Given the description of an element on the screen output the (x, y) to click on. 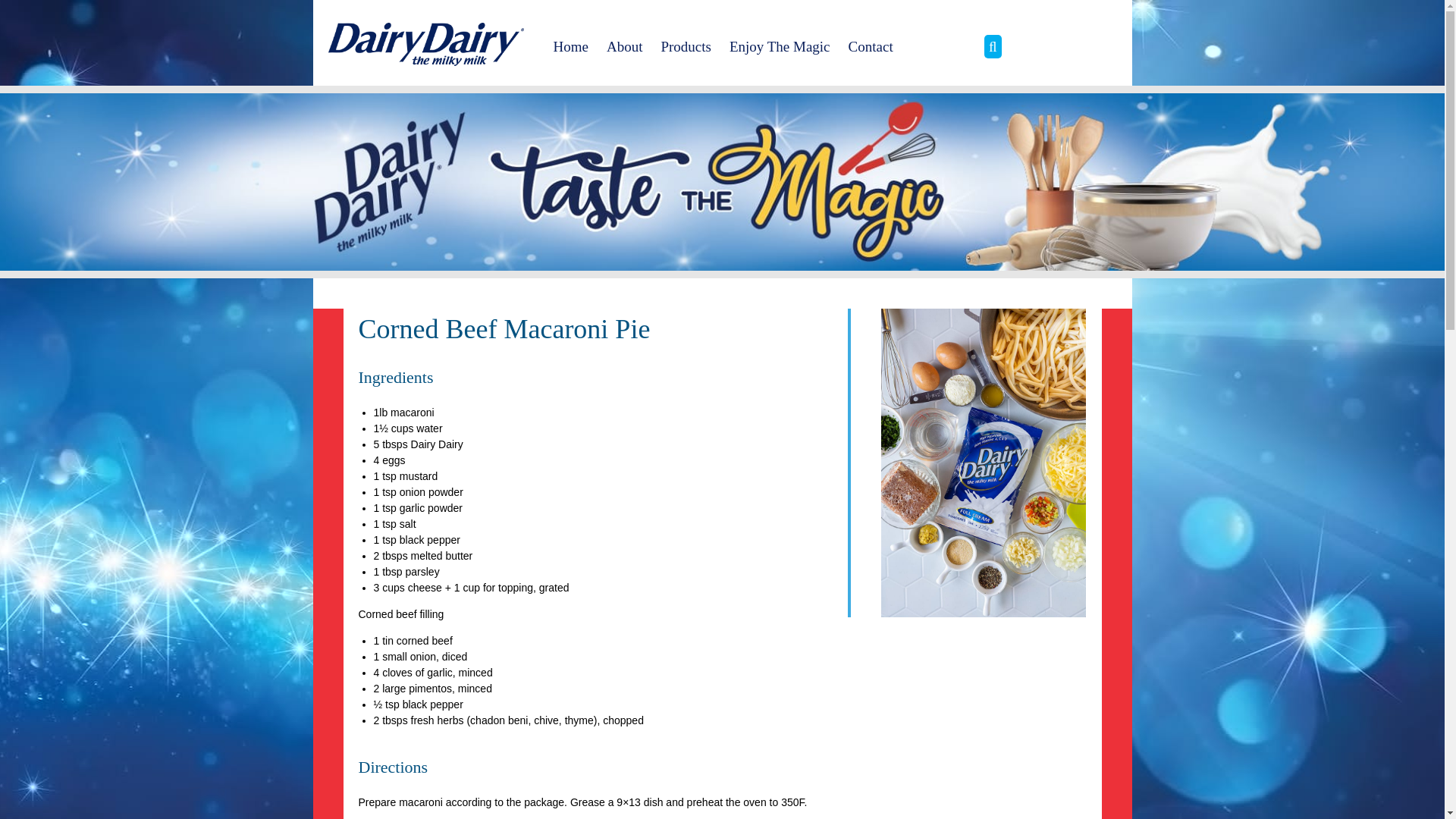
Products (686, 46)
Contact (870, 46)
Home (570, 46)
Dairy Dairy on Instagram (1054, 46)
Dairy Dairy on TikTok (1104, 46)
Dairy Dairy on Facebook (1030, 46)
About (625, 46)
Enjoy The Magic (779, 46)
Dairy Dairy on YouTube (1080, 46)
